Given the description of an element on the screen output the (x, y) to click on. 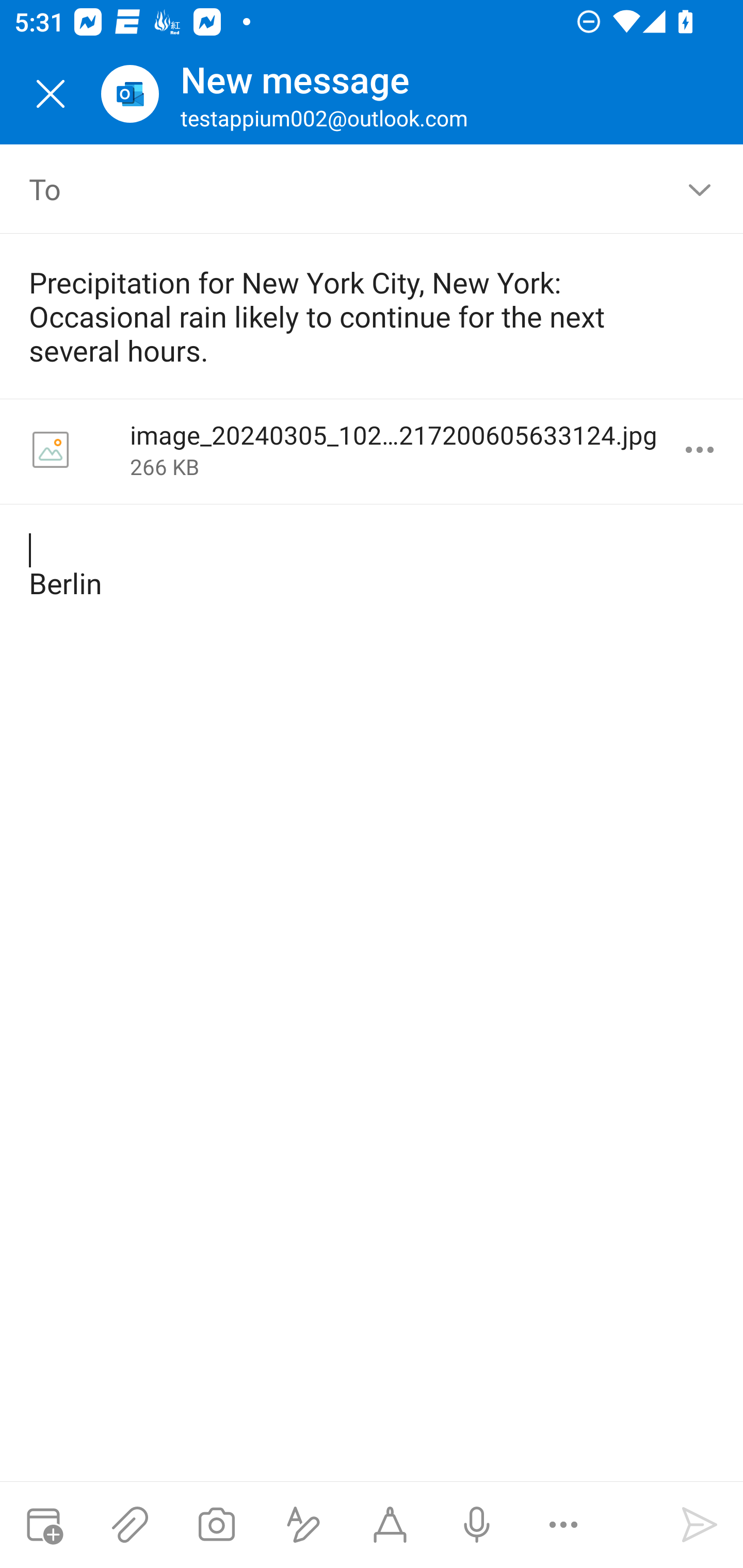
Close (50, 93)
More options (699, 449)

Berlin (372, 567)
Attach meeting (43, 1524)
Attach files (129, 1524)
Take a photo (216, 1524)
Show formatting options (303, 1524)
Start Ink compose (389, 1524)
Dictation (476, 1524)
More options (563, 1524)
Send (699, 1524)
